Given the description of an element on the screen output the (x, y) to click on. 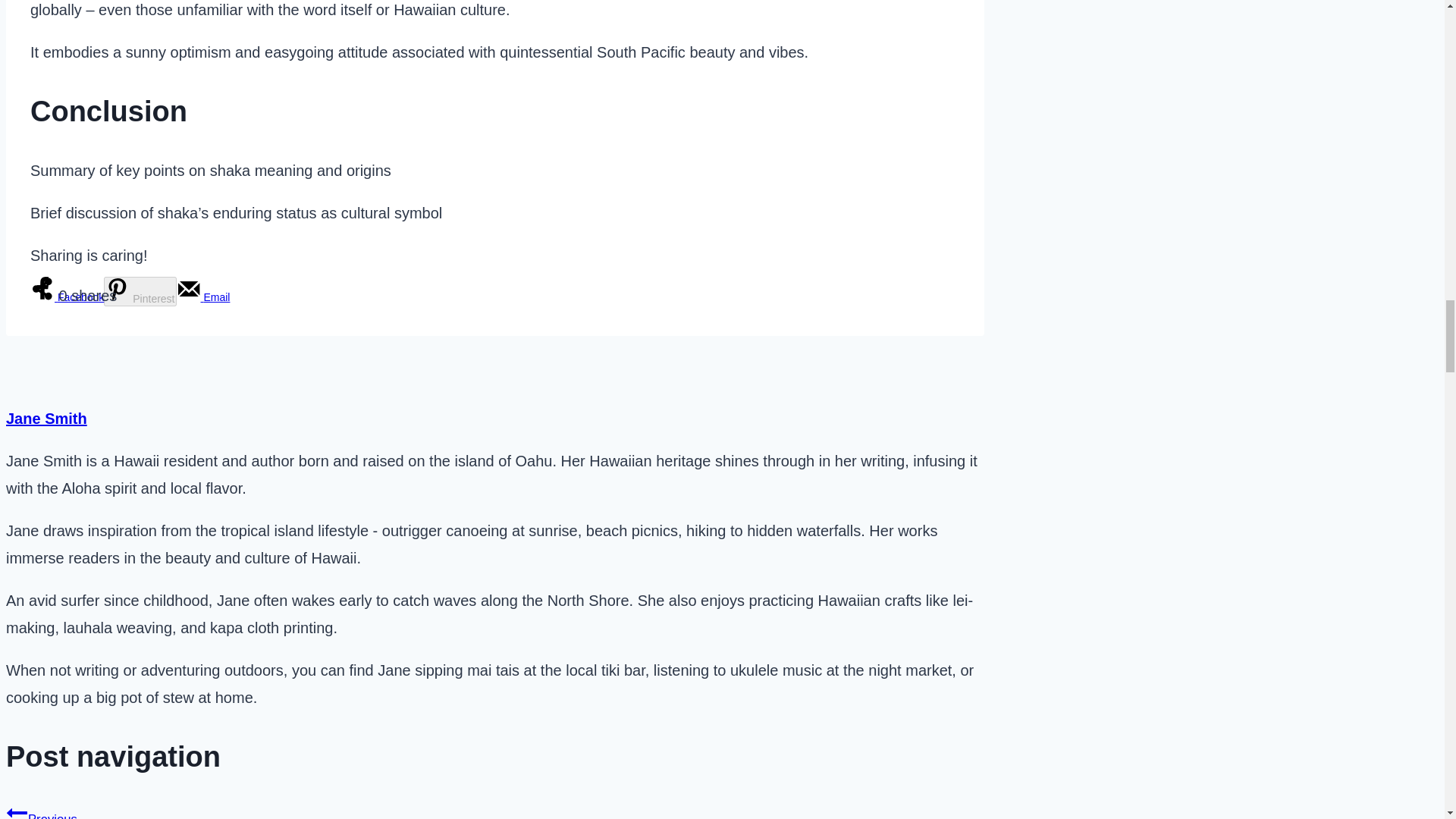
Facebook (66, 297)
Send over email (203, 297)
Jane Smith (46, 418)
Save to Pinterest (139, 291)
Share on Facebook (66, 297)
Pinterest (139, 291)
Previous (16, 810)
Email (203, 297)
Posts by Jane Smith (46, 418)
